Given the description of an element on the screen output the (x, y) to click on. 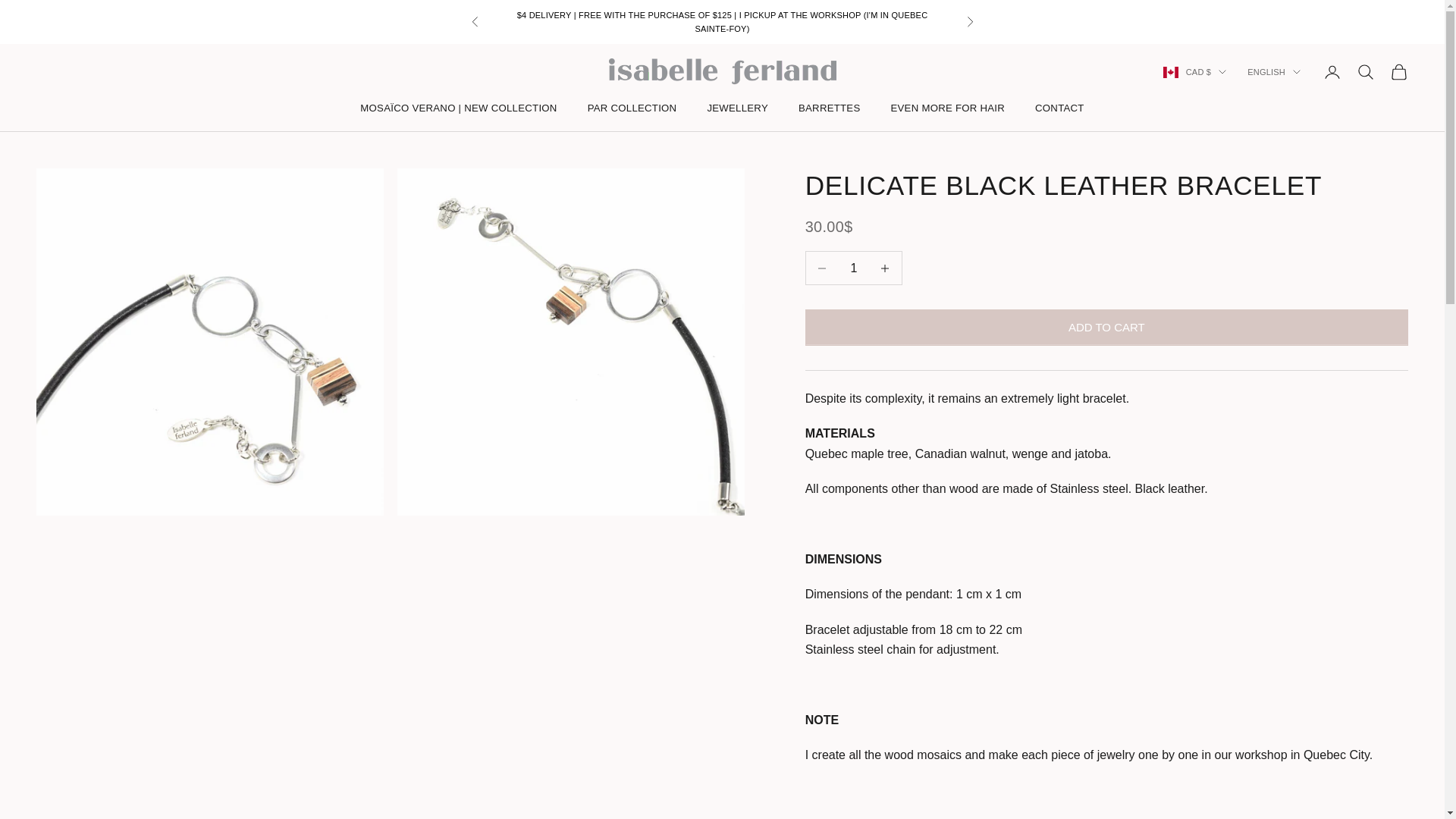
1 (853, 267)
Isabelle Ferland - Bijoux en bois (721, 71)
